Given the description of an element on the screen output the (x, y) to click on. 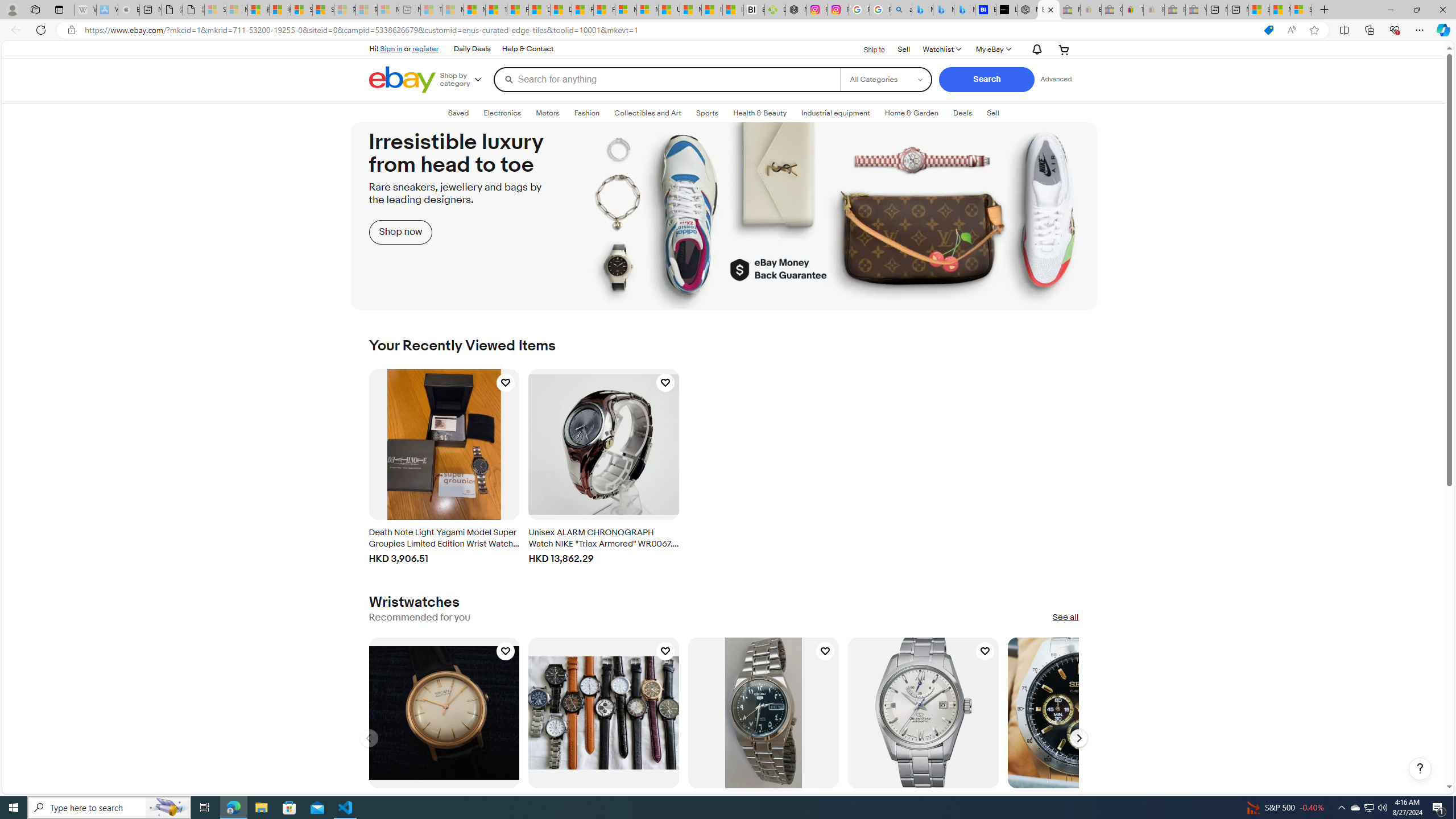
Saved (458, 112)
Microsoft Services Agreement - Sleeping (236, 9)
Shanghai, China hourly forecast | Microsoft Weather (1258, 9)
Buy iPad - Apple - Sleeping (128, 9)
Sell (904, 48)
